Given the description of an element on the screen output the (x, y) to click on. 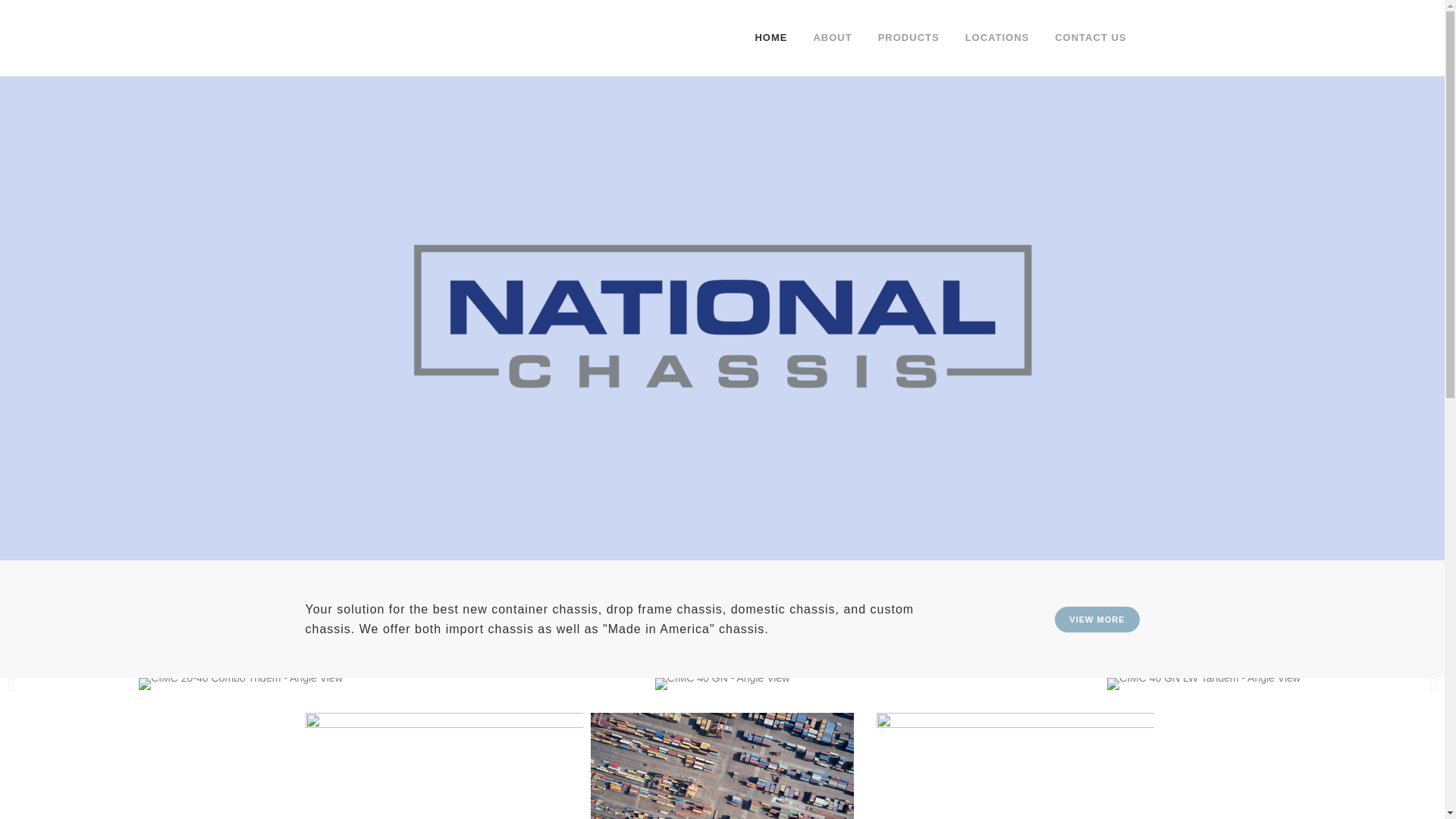
816 W Barbours Cut Blvd. La Porte, TX 77571 (373, 635)
CONTACT US (1090, 38)
LOCATIONS (997, 38)
Qode Interactive (747, 798)
PRODUCTS (908, 38)
VIEW MORE (1096, 619)
